Given the description of an element on the screen output the (x, y) to click on. 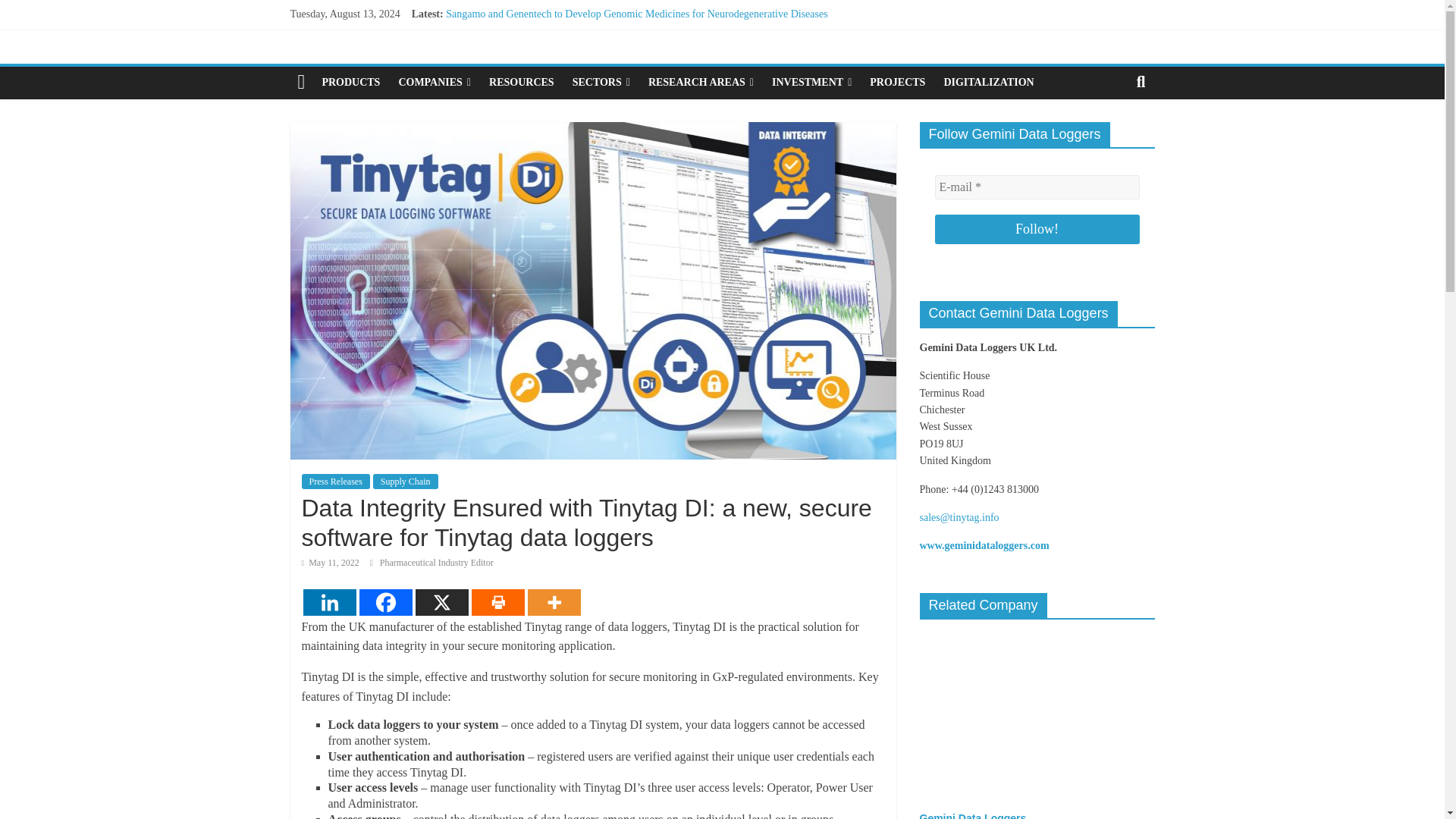
Peristaltic Pump for In Vitro Modeling (527, 64)
Bioreactors for Dynamic In Vitro Models (533, 81)
Bioreactors for Dynamic In Vitro Models (533, 81)
COMPANIES (434, 82)
X (441, 601)
Linkedin (329, 601)
RESEARCH AREAS (700, 82)
High Yield Adjuvant for Monoclonal Antibody Production (569, 48)
